Given the description of an element on the screen output the (x, y) to click on. 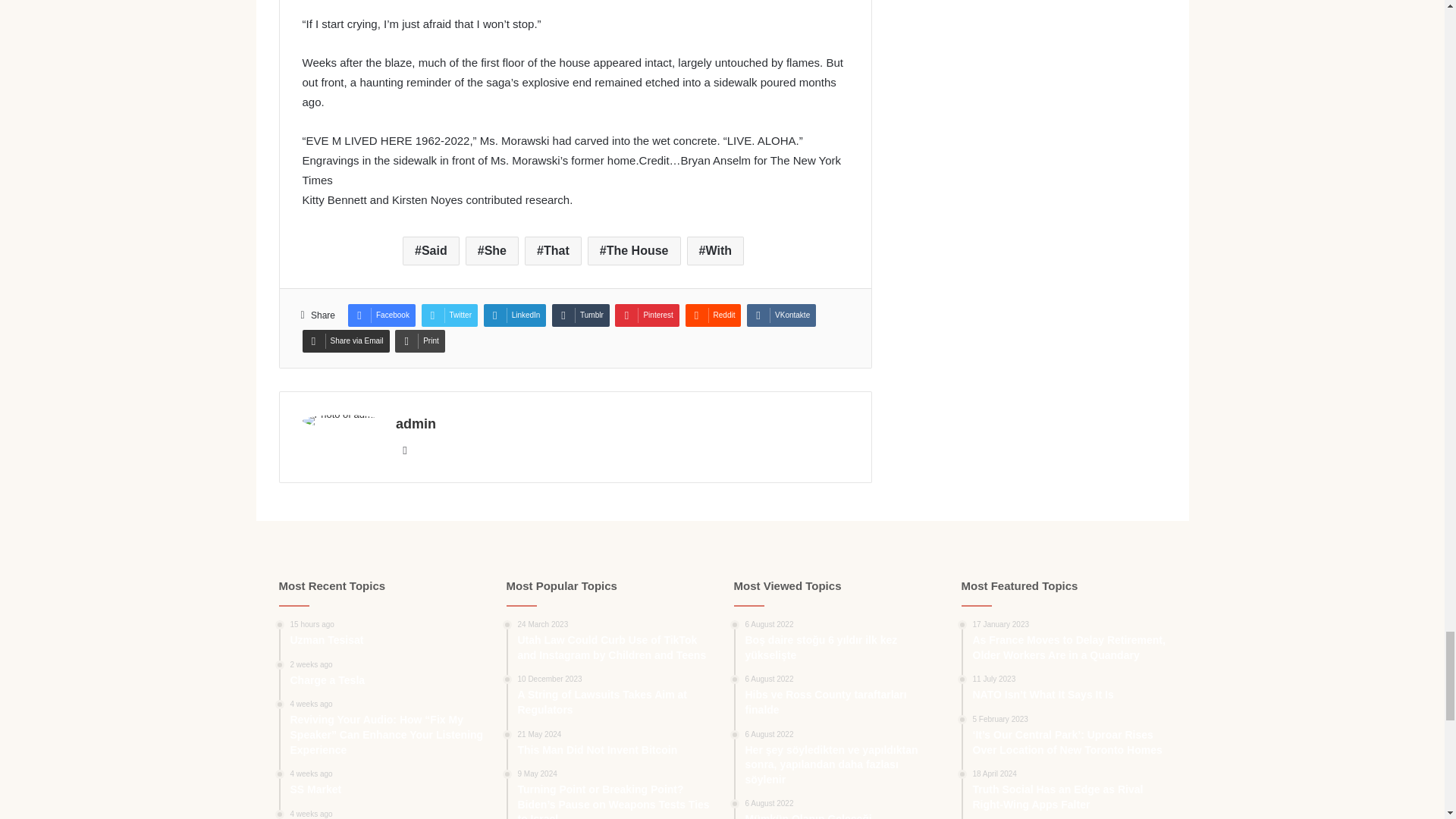
Tumblr (580, 314)
With (715, 250)
Facebook (380, 314)
Twitter (449, 314)
Reddit (713, 314)
She (491, 250)
Pinterest (646, 314)
Print (419, 341)
Pinterest (646, 314)
Reddit (713, 314)
Facebook (380, 314)
Share via Email (344, 341)
Tumblr (580, 314)
Twitter (449, 314)
Website (404, 450)
